Given the description of an element on the screen output the (x, y) to click on. 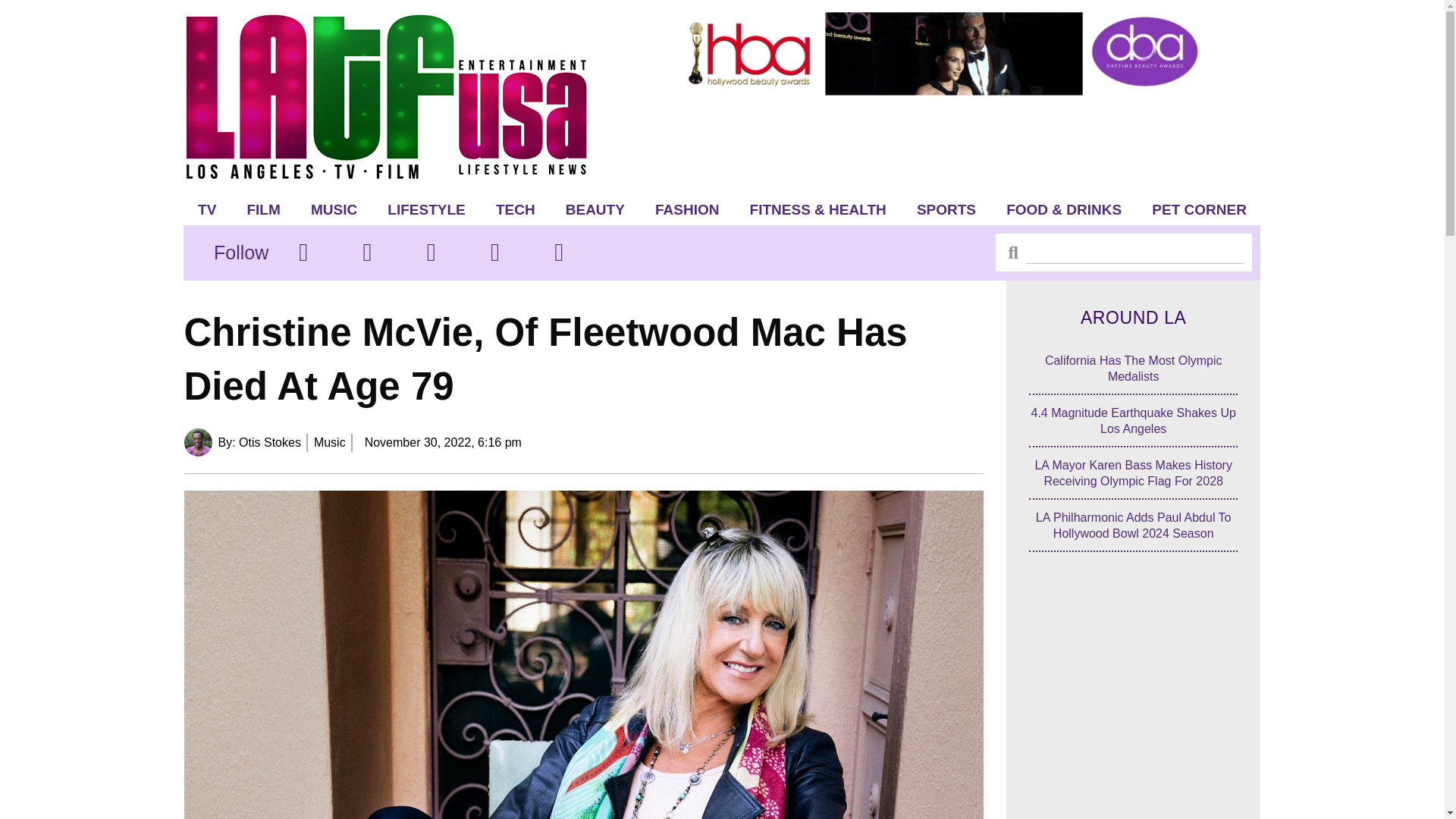
LIFESTYLE (426, 209)
FILM (263, 209)
TV (207, 209)
BEAUTY (595, 209)
MUSIC (333, 209)
TECH (515, 209)
FASHION (687, 209)
PET CORNER (1199, 209)
SPORTS (946, 209)
